Given the description of an element on the screen output the (x, y) to click on. 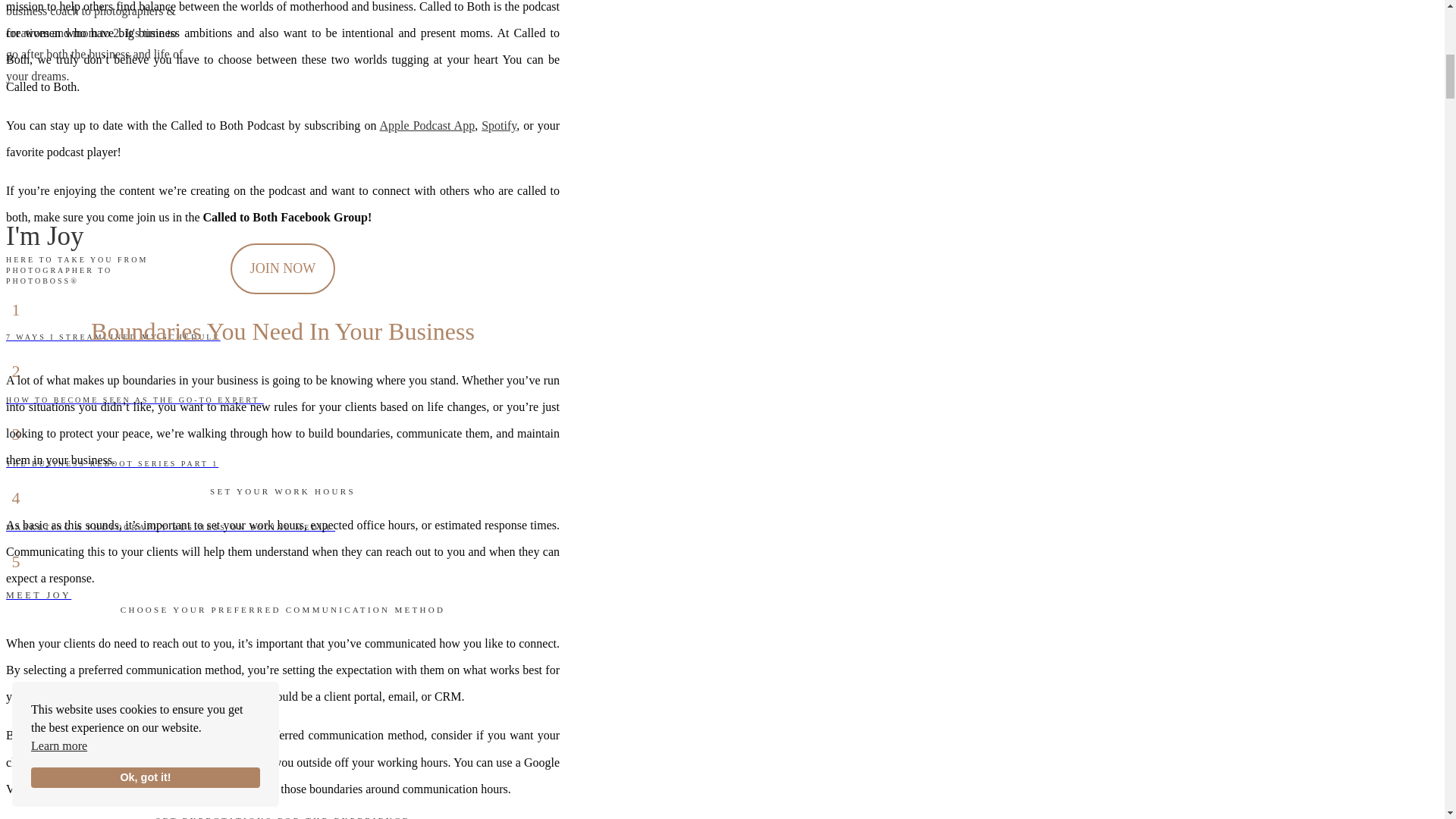
MARKETING A PHOTOGRAPHY BUSINESS ON SOCIAL MEDIA  (460, 527)
JOIN NOW (282, 268)
7 WAYS I STREAMLINED MY SCHEDULE (460, 337)
THE BUSINESS REBOOT SERIES PART 1 (460, 463)
HOW TO BECOME SEEN AS THE GO-TO EXPERT  (460, 399)
Apple Podcast App (428, 124)
Spotify (498, 124)
MEET JOY (460, 594)
